Given the description of an element on the screen output the (x, y) to click on. 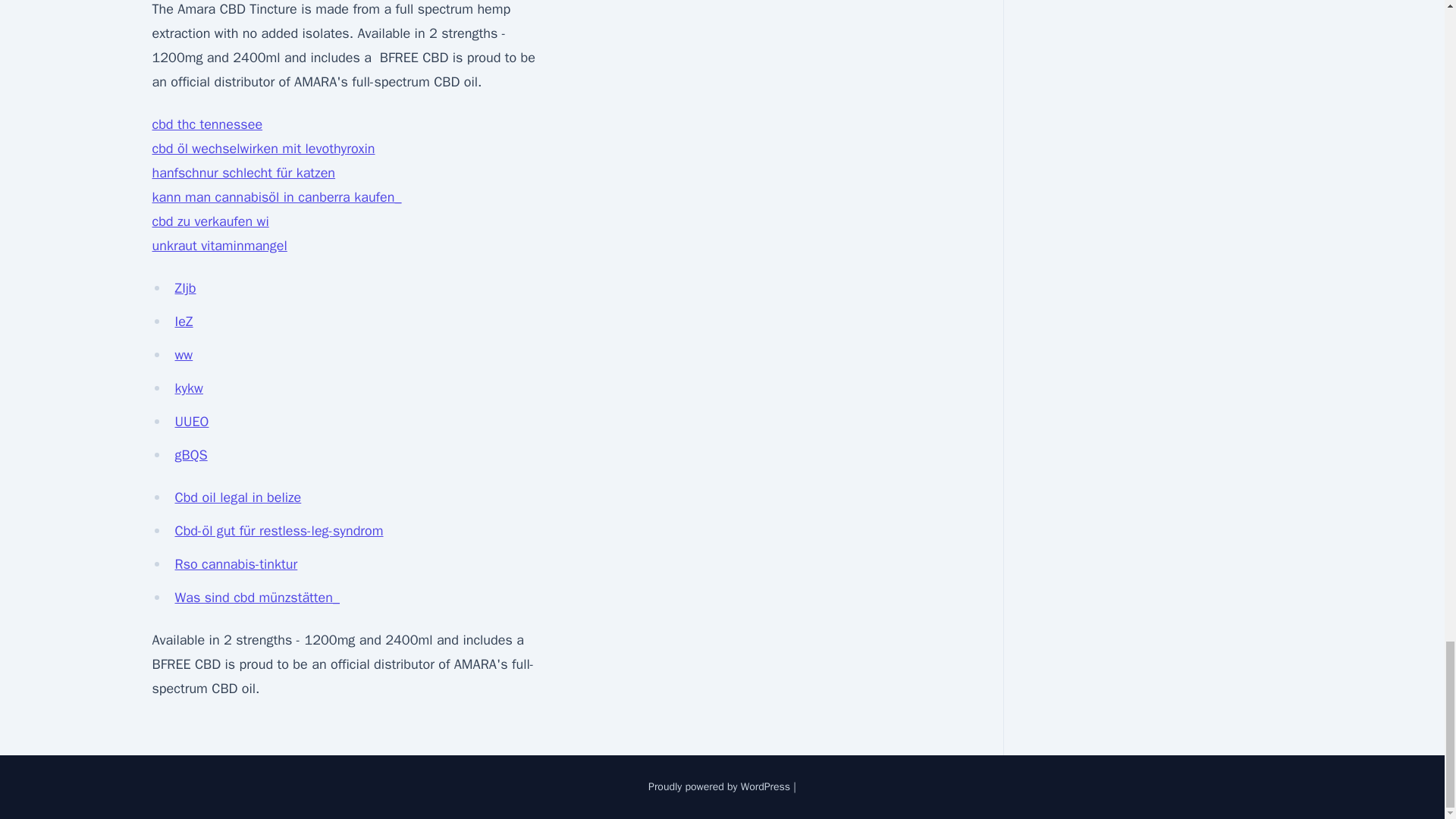
ZIjb (184, 288)
gBQS (190, 454)
cbd zu verkaufen wi (209, 221)
cbd thc tennessee (206, 124)
IeZ (183, 321)
unkraut vitaminmangel (218, 245)
Rso cannabis-tinktur (235, 564)
kykw (188, 388)
UUEO (191, 421)
ww (183, 354)
